Given the description of an element on the screen output the (x, y) to click on. 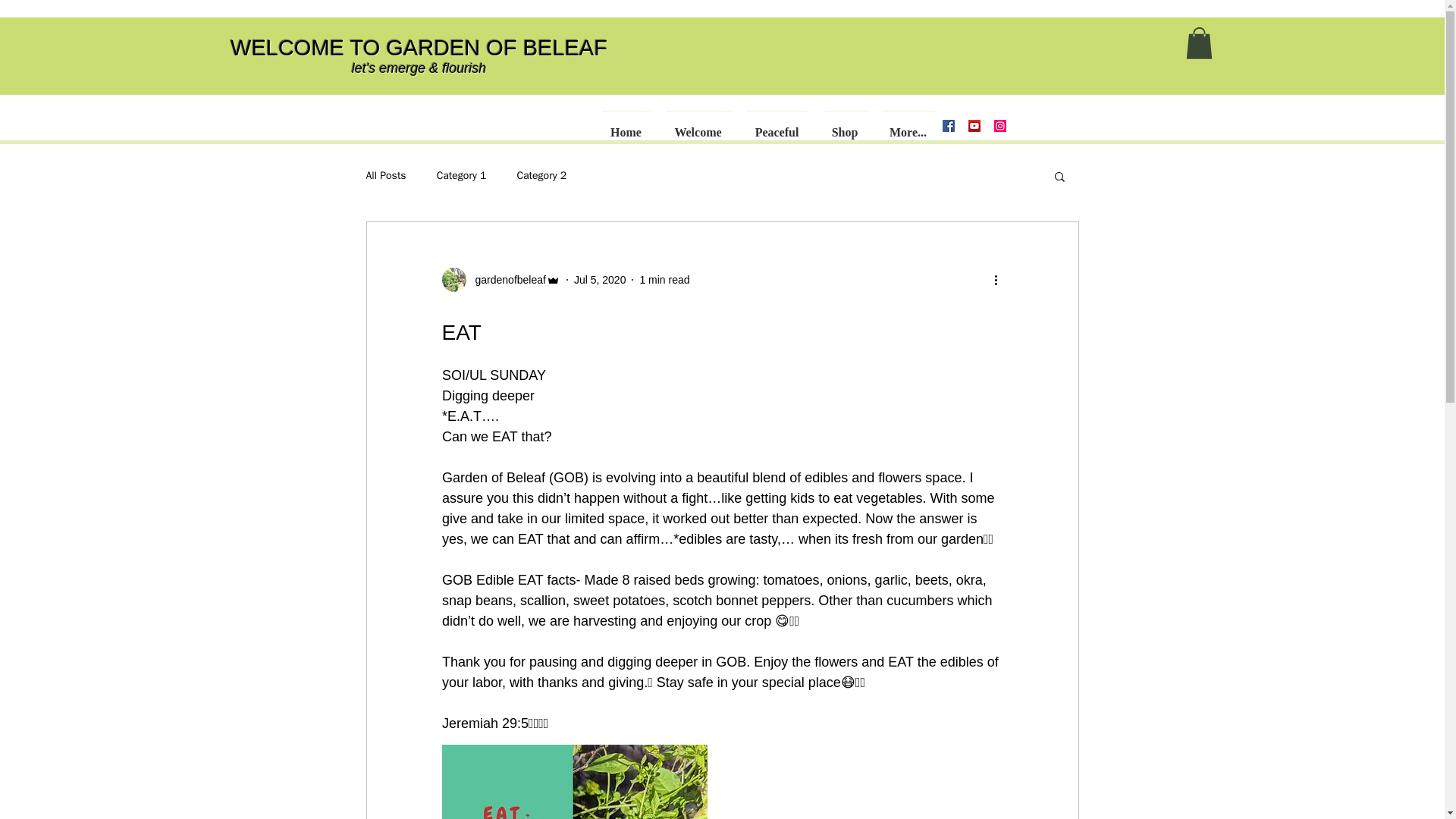
Welcome (698, 125)
gardenofbeleaf (500, 279)
Shop (843, 125)
1 min read (663, 278)
Home (626, 125)
Category 2 (541, 175)
Peaceful (774, 125)
gardenofbeleaf (504, 279)
All Posts (385, 175)
Category 1 (461, 175)
